Given the description of an element on the screen output the (x, y) to click on. 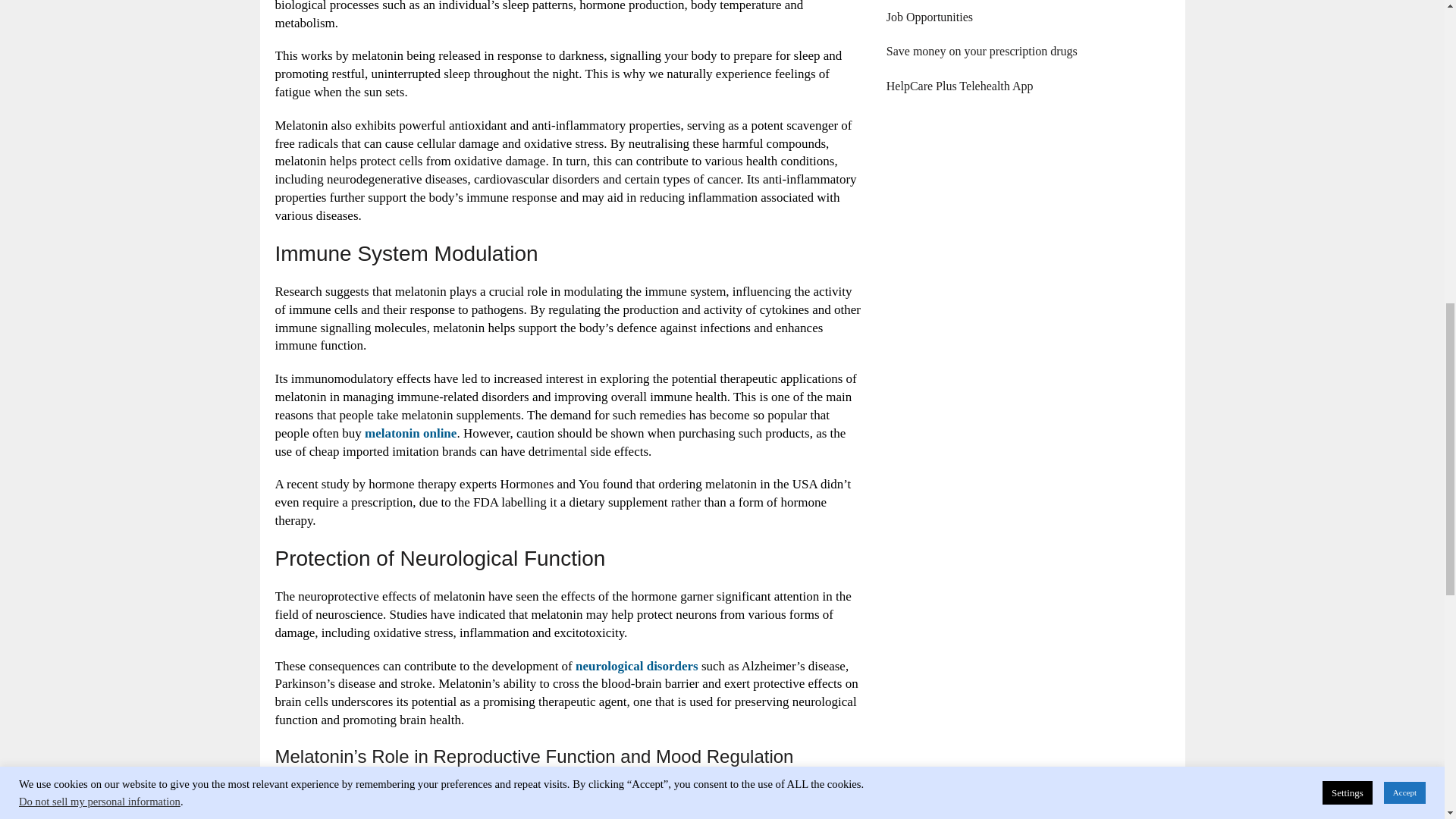
melatonin online (411, 432)
neurological disorders (636, 666)
